Given the description of an element on the screen output the (x, y) to click on. 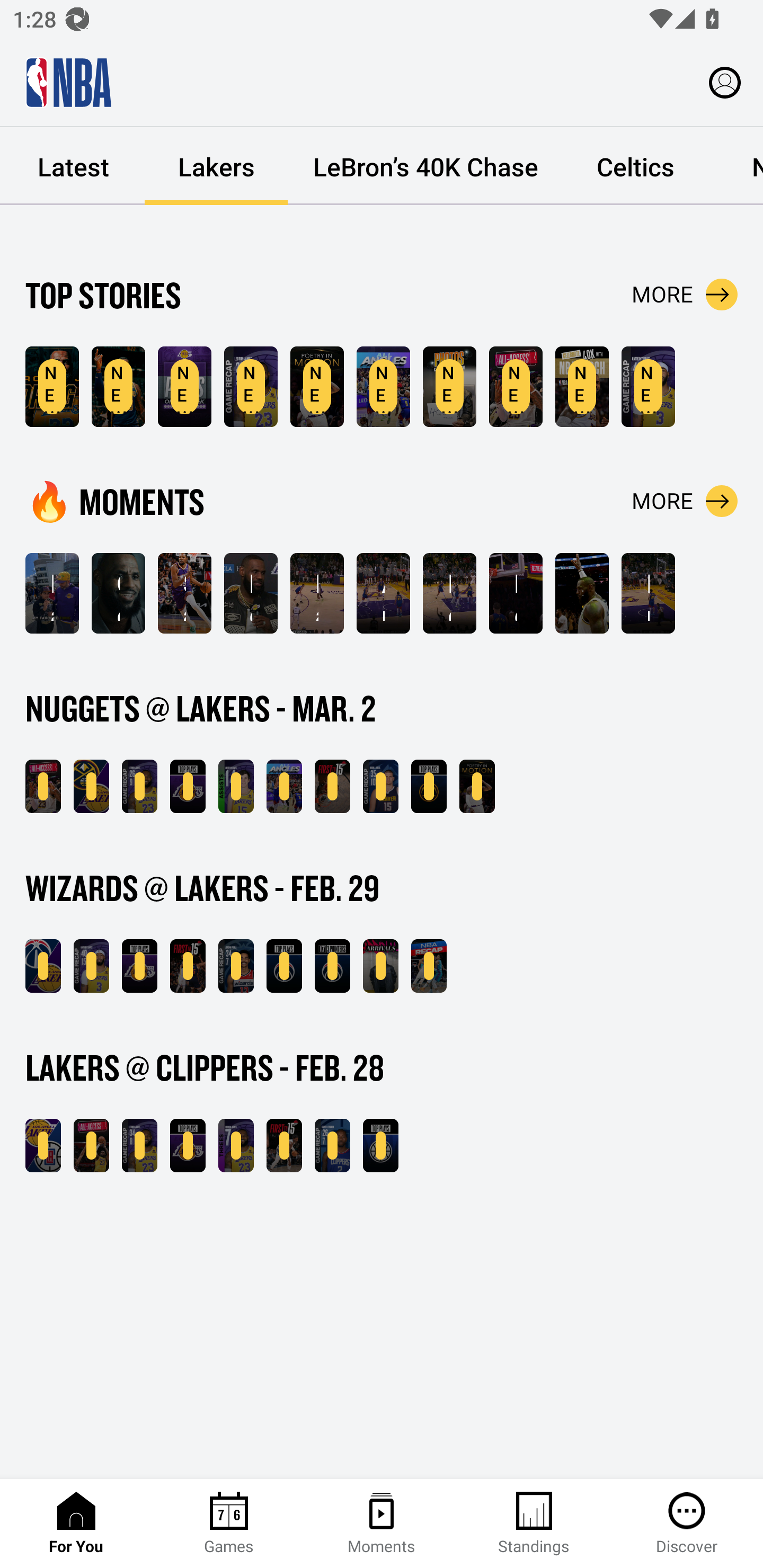
Profile (724, 81)
Latest (72, 166)
LeBron’s 40K Chase (425, 166)
Celtics (634, 166)
MORE (684, 294)
NEW LeBron Tracker: Lakers star reaches 40,000 (51, 386)
NEW Milestone Baskets From LeBron's Career (117, 386)
NEW LAL's Top Plays of Week 19 (184, 386)
NEW Highlights From LeBron James' 26-Point Game (250, 386)
NEW LeBron's Historic Night In Slo-Mo 🎥 (317, 386)
All Angles Of LeBron's Historic Shot 👀 NEW (383, 386)
Scenes From LeBron's 40K Night 📸 NEW (449, 386)
Inside LeBron's 40K Milestone On ABC 🎥 NEW (515, 386)
Shop LeBron Merch Now 👑🛒 NEW (581, 386)
Highlights From Anthony Davis' 40-Point Game NEW (648, 386)
MORE (684, 500)
Saturday's Top Plays In 30 Seconds ⏱ (184, 593)
Radio Call Of The Lebron Bucket For 40K 📻 (317, 593)
Austin Reaves with the assist (383, 593)
LeBron James hits from way downtown (449, 593)
LeBron James with the hoop & harm (515, 593)
👏👑🙌 (581, 593)
Dunk by Jaxson Hayes (648, 593)
NEW Inside LeBron's 40K Milestone On ABC 🎥 (43, 785)
NEW DEN 124, LAL 114 - Mar 2 (91, 785)
NEW Highlights From LeBron James' 26-Point Game (139, 785)
NEW LAL's Top Plays from DEN vs. LAL (187, 785)
NEW Highlights From Austin Reaves' 14-Assist Game (236, 785)
All Angles Of LeBron's Historic Shot 👀 NEW (284, 785)
First To 15 Mar. 2nd NEW (332, 785)
Highlights From Nikola Jokic's 35-Point Game NEW (380, 785)
DEN's Top Plays from DEN vs. LAL NEW (428, 785)
LeBron's Historic Night In Slo-Mo 🎥 NEW (477, 785)
NEW LAL 134, WAS 131 - Feb 29 (43, 965)
NEW Highlights From Anthony Davis' 40-Point Game (91, 965)
NEW LAL's Top Plays from WAS vs. LAL (139, 965)
NEW First To 15: Feb. 29th (187, 965)
NEW Highlights From Jordan Poole's 34-Point Game (236, 965)
WAS' Top Plays from WAS vs. LAL NEW (284, 965)
All 3's from WAS' 17 3-Pointer Night NEW (332, 965)
Thursday Night's Arrivals 🔥 NEW (380, 965)
Thursday's Recap NEW (428, 965)
NEW LAL 116, LAC 112 - Feb 28 (43, 1145)
NEW LeBron Takes Over In The Battle Of LA (91, 1145)
NEW Highlights From LeBron James's 34-Point Game (139, 1145)
NEW LAL's Top Plays from LAL vs. LAC (187, 1145)
First To 15: Feb. 28th NEW (284, 1145)
Highlights From Kawhi Leonard's 26-Point Game NEW (332, 1145)
LAC's Top Plays from LAL vs. LAC NEW (380, 1145)
Games (228, 1523)
Moments (381, 1523)
Standings (533, 1523)
Discover (686, 1523)
